Given the description of an element on the screen output the (x, y) to click on. 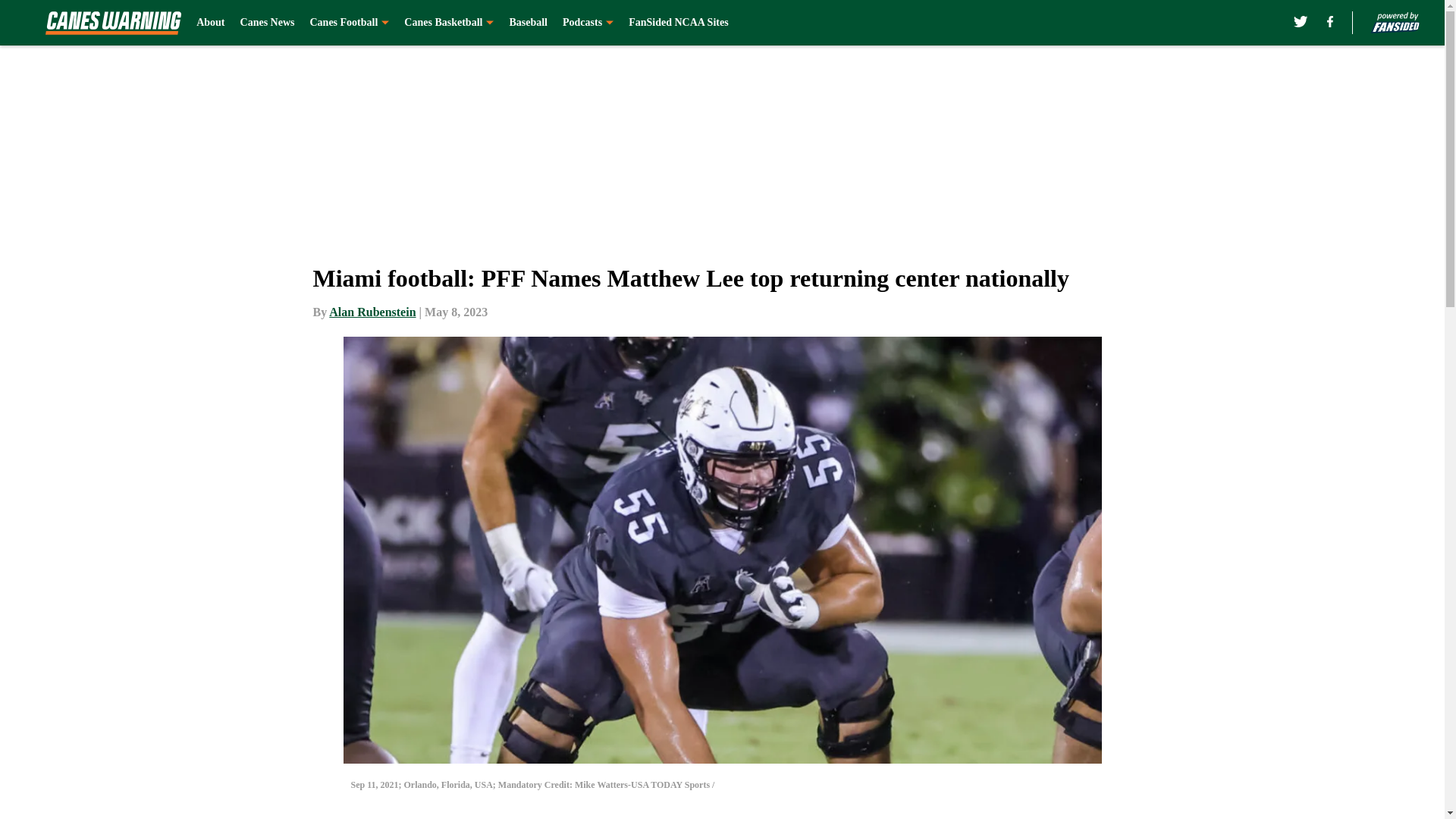
Canes News (267, 22)
Baseball (527, 22)
Alan Rubenstein (371, 311)
About (210, 22)
FanSided NCAA Sites (678, 22)
